Given the description of an element on the screen output the (x, y) to click on. 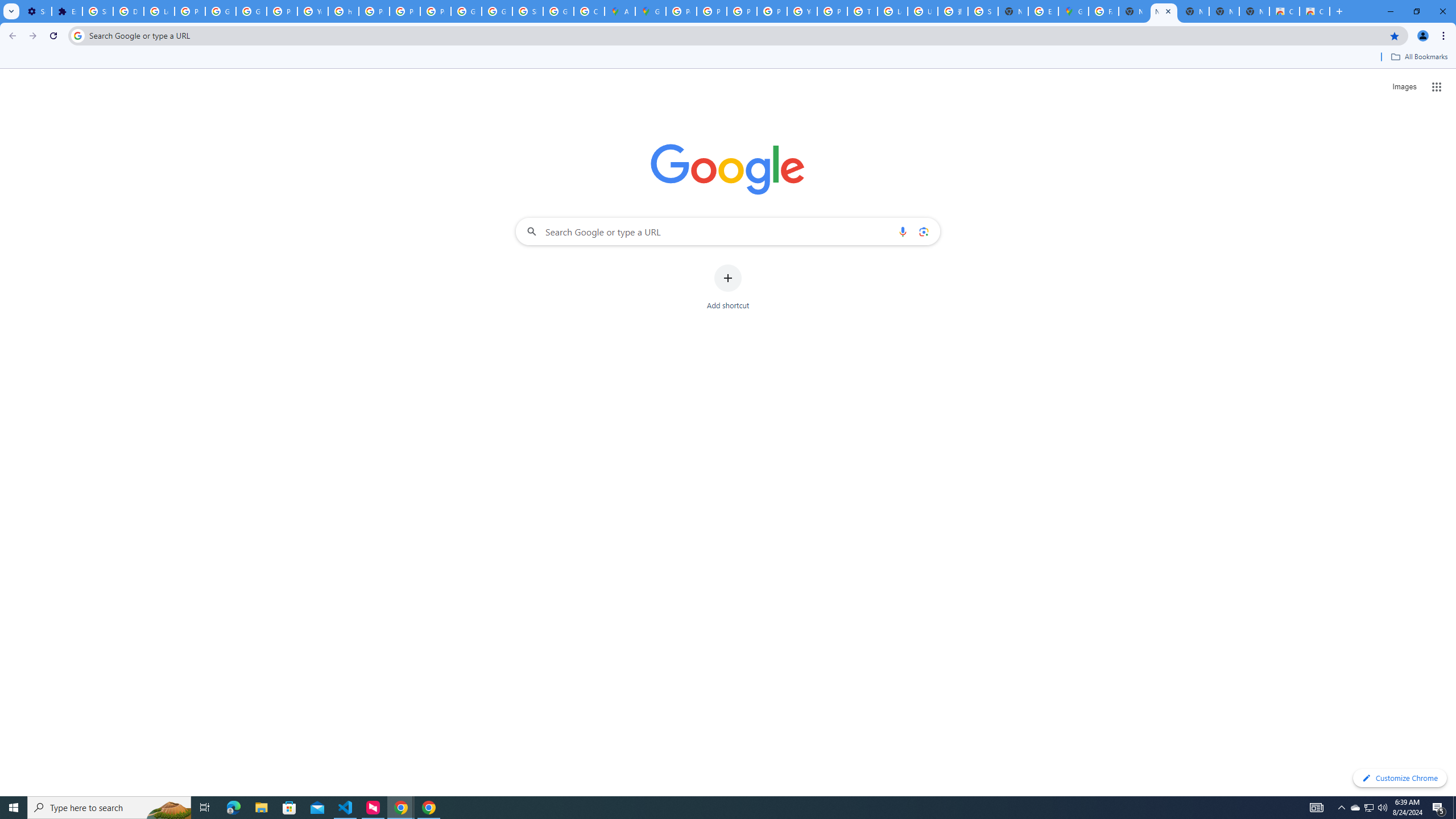
Add shortcut (727, 287)
Extensions (66, 11)
Search for Images  (1403, 87)
Address and search bar (735, 35)
Google Account Help (220, 11)
Privacy Help Center - Policies Help (741, 11)
Google apps (1436, 86)
New Tab (1254, 11)
